Given the description of an element on the screen output the (x, y) to click on. 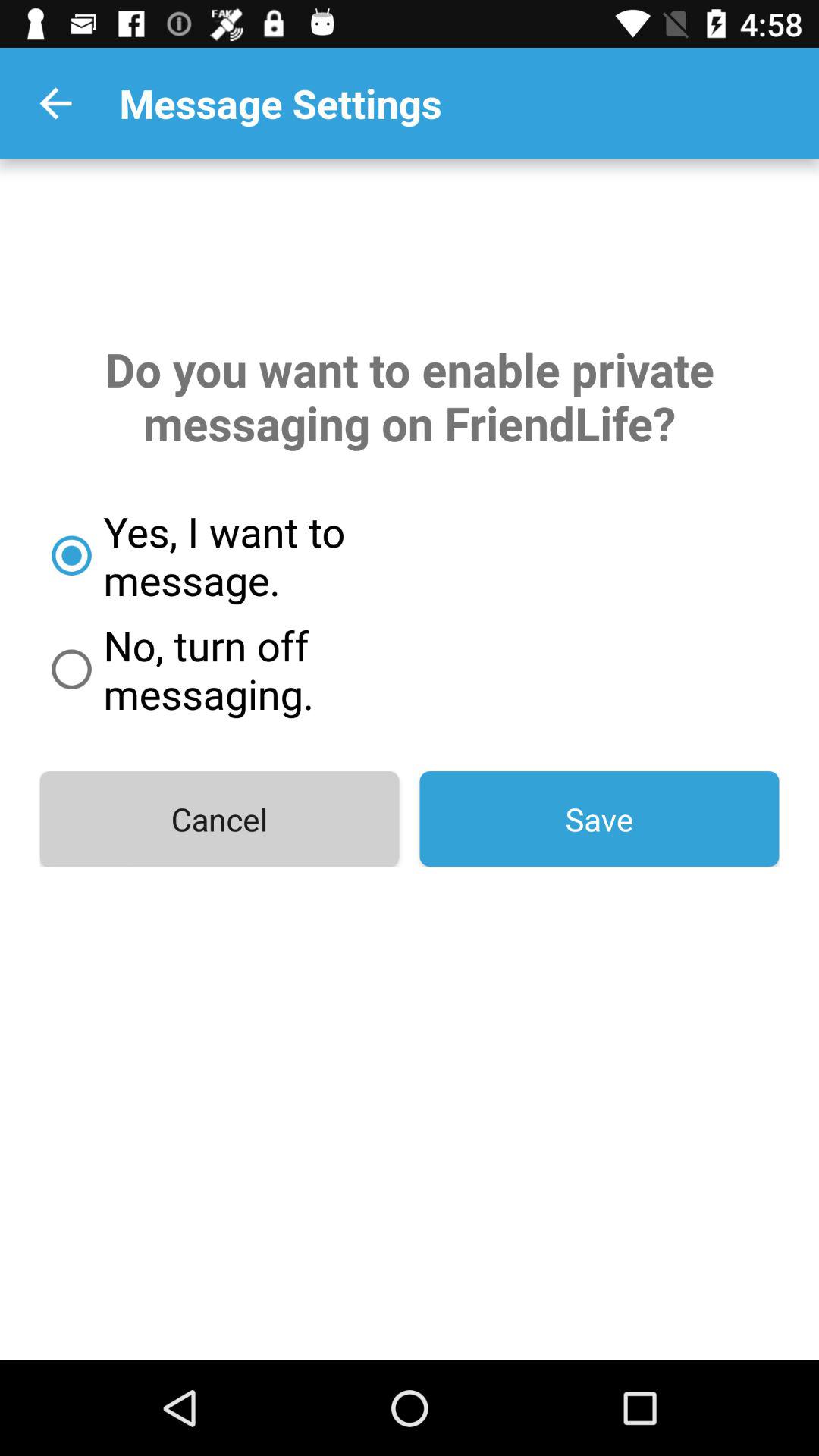
open item next to message settings icon (55, 103)
